Given the description of an element on the screen output the (x, y) to click on. 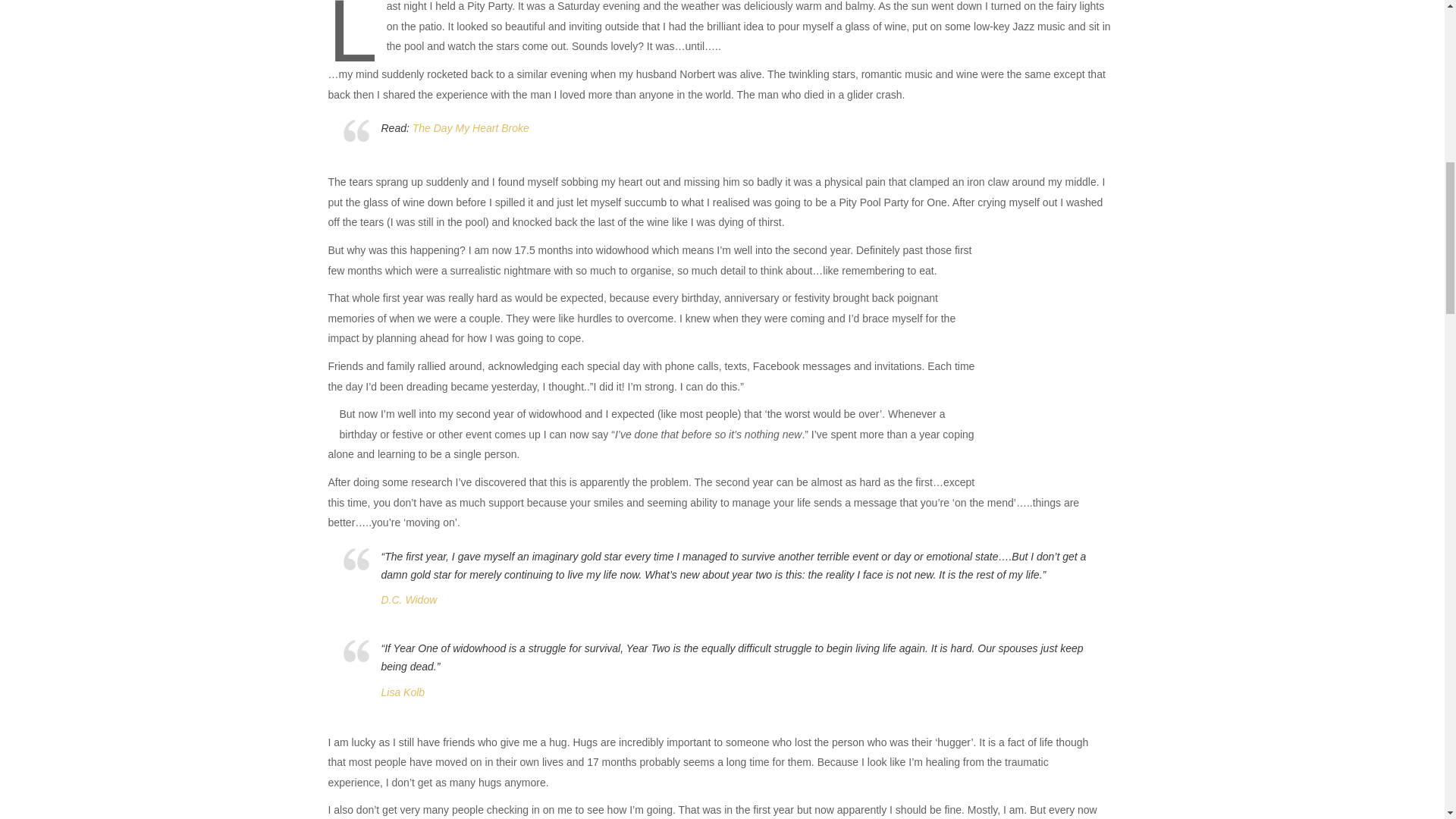
Lisa Kolb (402, 692)
The Day My Heart Broke (470, 128)
D.C. Widow (408, 599)
